Given the description of an element on the screen output the (x, y) to click on. 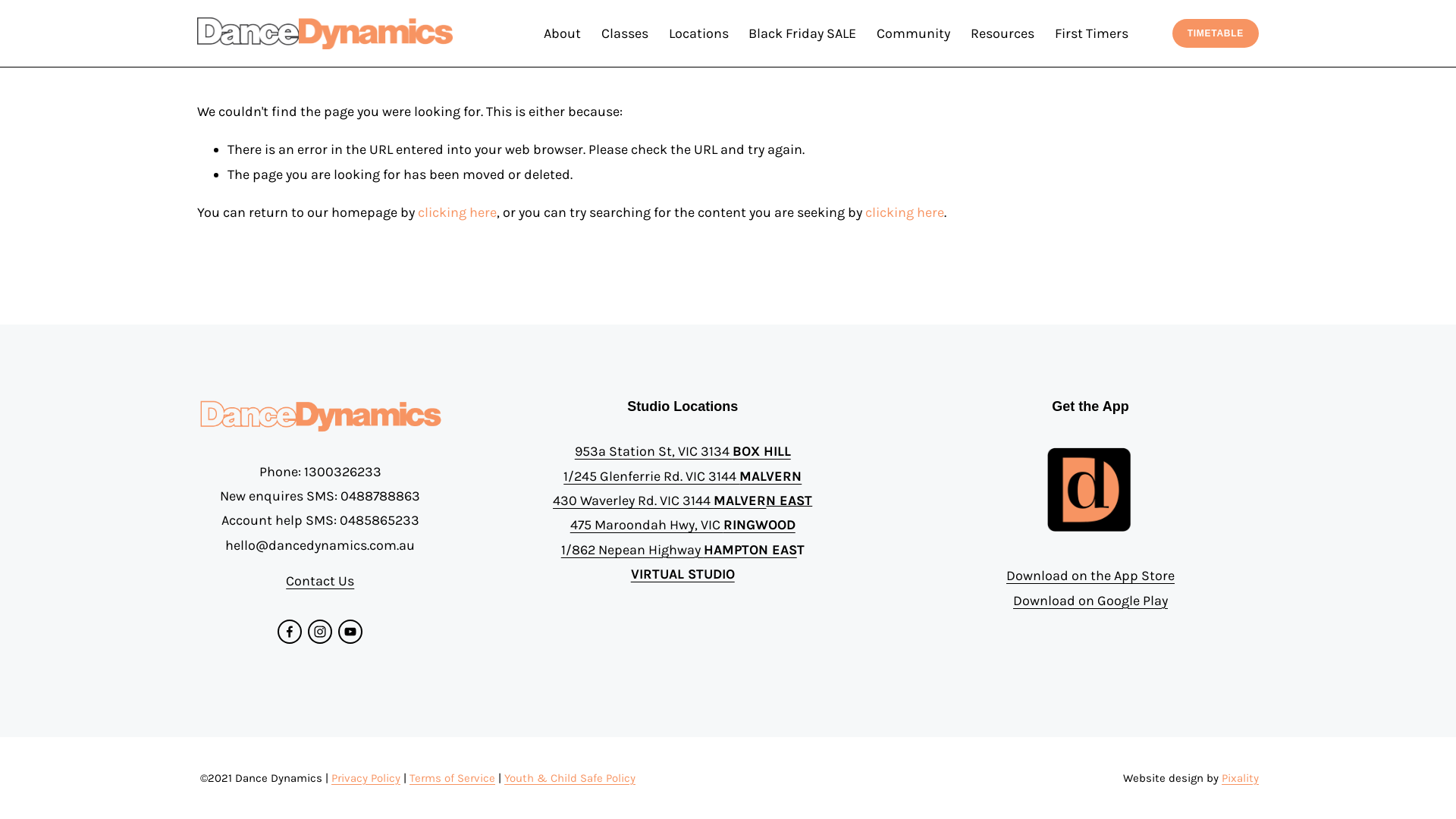
First Timers Element type: text (1091, 33)
Community Element type: text (913, 33)
clicking here Element type: text (456, 211)
Youth & Child Safe Policy Element type: text (569, 777)
TIMETABLE Element type: text (1215, 32)
Locations Element type: text (698, 33)
Resources Element type: text (1002, 33)
Black Friday SALE Element type: text (802, 33)
475 Maroondah Hwy, VIC RINGWOOD Element type: text (682, 524)
Download on Google Play Element type: text (1090, 600)
Contact Us Element type: text (319, 580)
Privacy Policy Element type: text (365, 777)
Pixality Element type: text (1239, 777)
Classes Element type: text (624, 33)
Terms of Service Element type: text (452, 777)
430 Waverley Rd. VIC 3144 MALVER Element type: text (658, 500)
1/862 Nepean Highway HAMPTON EAS Element type: text (679, 549)
Download on the App Store Element type: text (1090, 575)
About Element type: text (561, 33)
clicking here Element type: text (904, 211)
VIRTUAL STUDIO Element type: text (682, 573)
1/245 Glenferrie Rd. VIC 3144 MALVERN Element type: text (682, 476)
953a Station St, VIC 3134 BOX HILL Element type: text (682, 451)
